Given the description of an element on the screen output the (x, y) to click on. 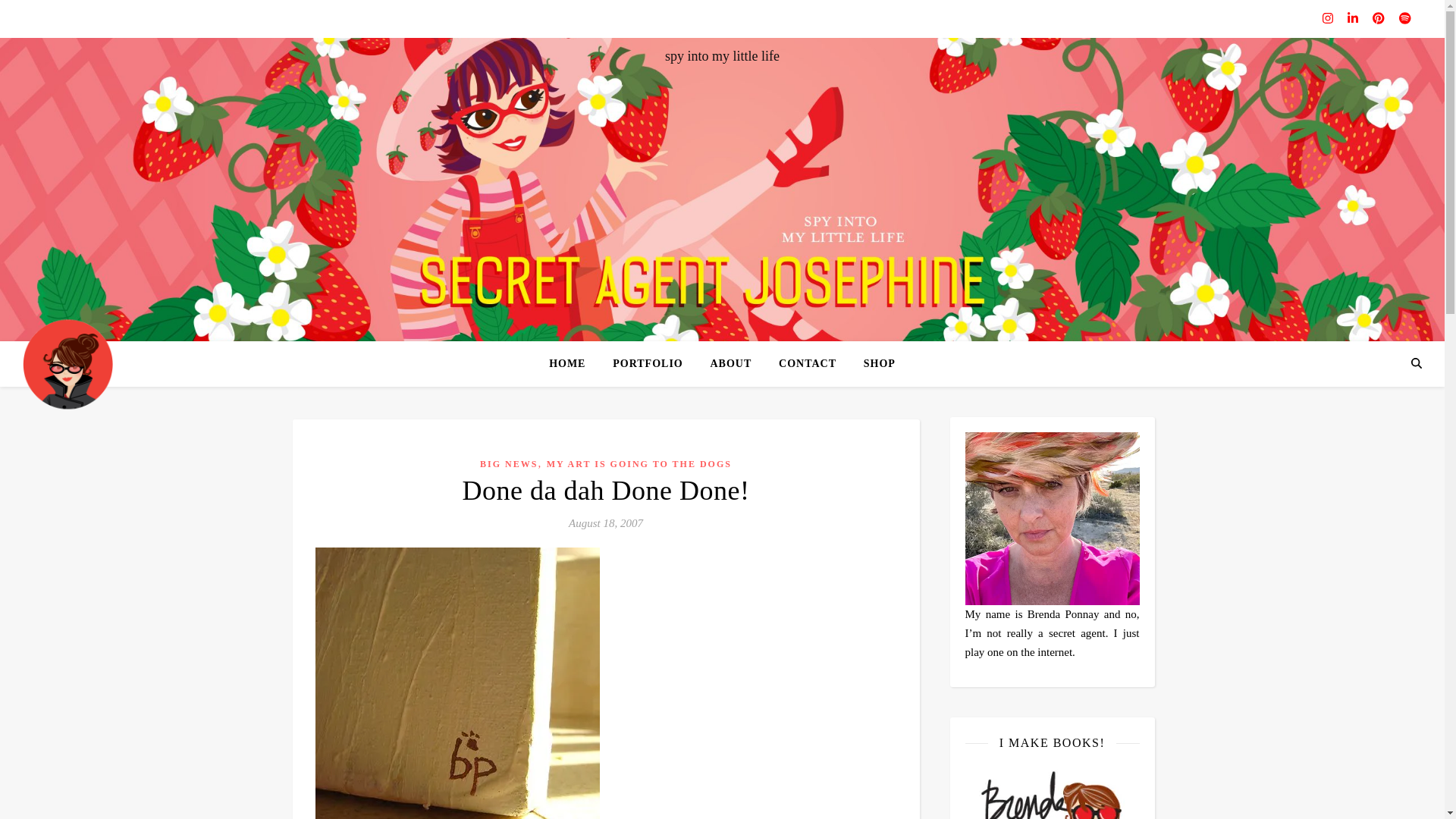
CONTACT (807, 363)
MY ART IS GOING TO THE DOGS (639, 463)
PORTFOLIO (647, 363)
Secret Agent Josephine (68, 363)
HOME (572, 363)
SHOP (873, 363)
Done da dah Done Done! (606, 490)
ABOUT (729, 363)
BIG NEWS (508, 463)
